Given the description of an element on the screen output the (x, y) to click on. 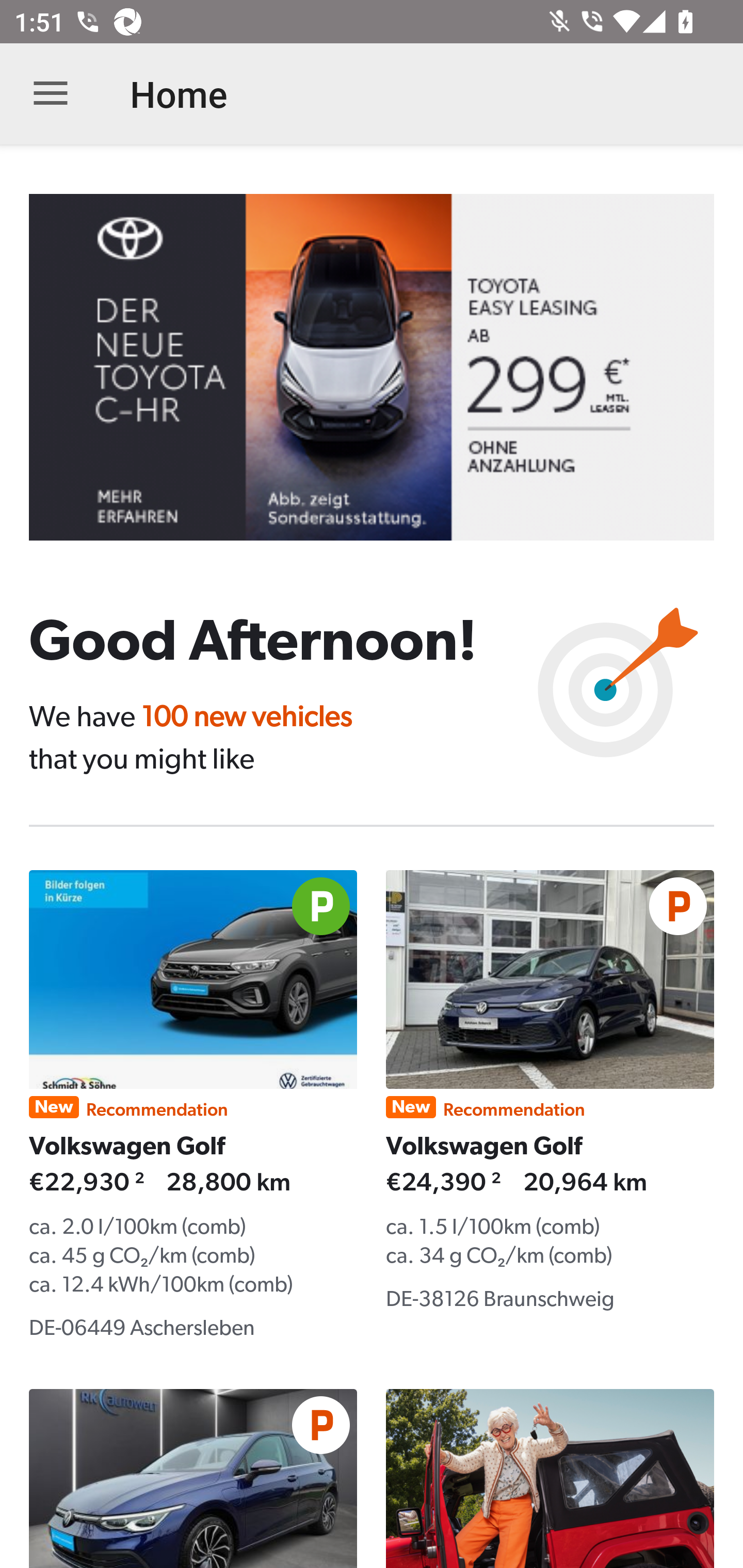
Open navigation bar (50, 93)
B31340770 (385, 367)
